Given the description of an element on the screen output the (x, y) to click on. 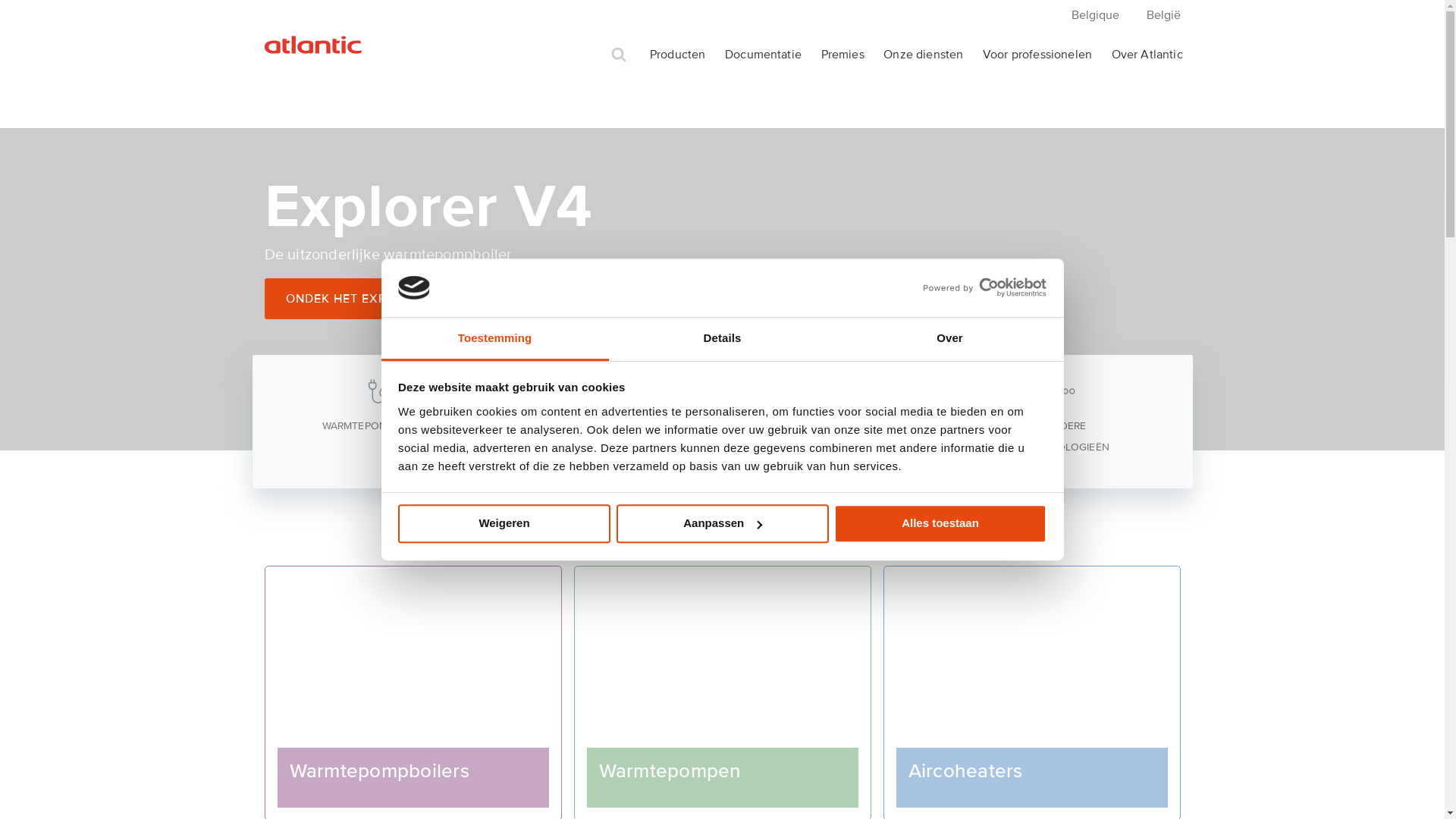
ONDEK HET EXPLORER V4 GAMMA Element type: text (401, 298)
Zoek Element type: text (618, 54)
Voor professionelen Element type: text (1036, 55)
SWW BEREIDER Element type: text (722, 407)
Details Element type: text (721, 338)
Belgique Element type: text (1094, 14)
WARMTEPOMPBOILERS Element type: text (378, 407)
Premies Element type: text (842, 55)
Documentatie Element type: text (763, 55)
ELEKTRISCHE VERWARMING Element type: text (893, 418)
Over Element type: text (949, 338)
Onze diensten Element type: text (922, 55)
Producten Element type: text (677, 55)
Over Atlantic Element type: text (1146, 55)
Weigeren Element type: text (504, 523)
Alles toestaan Element type: text (940, 523)
Toestemming Element type: text (494, 338)
Aanpassen Element type: text (721, 523)
WARMTEPOMP Element type: text (549, 407)
